Given the description of an element on the screen output the (x, y) to click on. 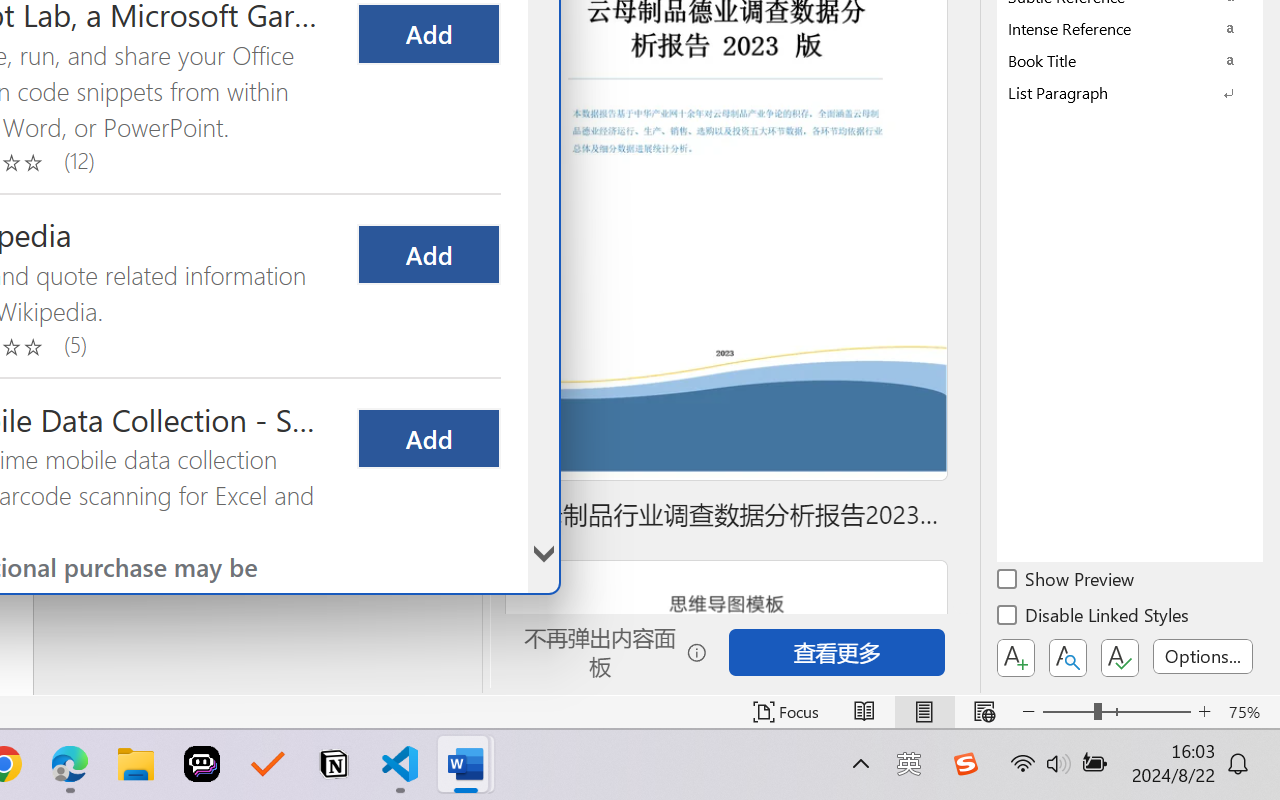
Focus  (786, 712)
Options... (1203, 656)
Zoom (1116, 712)
Add Mobile Data Collection - Scan-IT to Office (428, 438)
Show Preview (1067, 582)
Print Layout (924, 712)
Class: NetUIImage (1116, 92)
Web Layout (984, 712)
Class: NetUIButton (1119, 657)
